Given the description of an element on the screen output the (x, y) to click on. 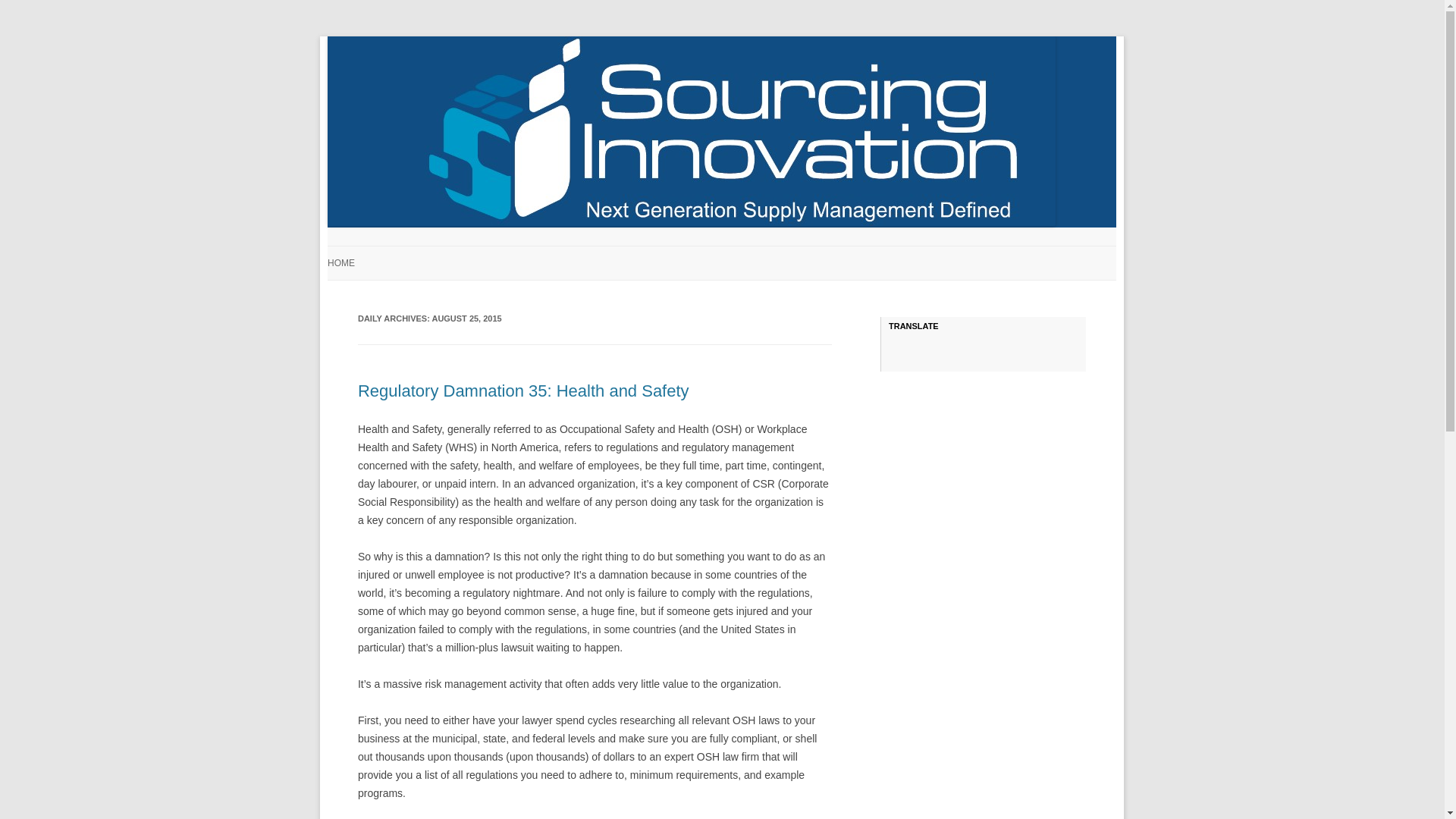
Skip to content (757, 250)
Regulatory Damnation 35: Health and Safety (523, 390)
Skip to content (757, 250)
